Given the description of an element on the screen output the (x, y) to click on. 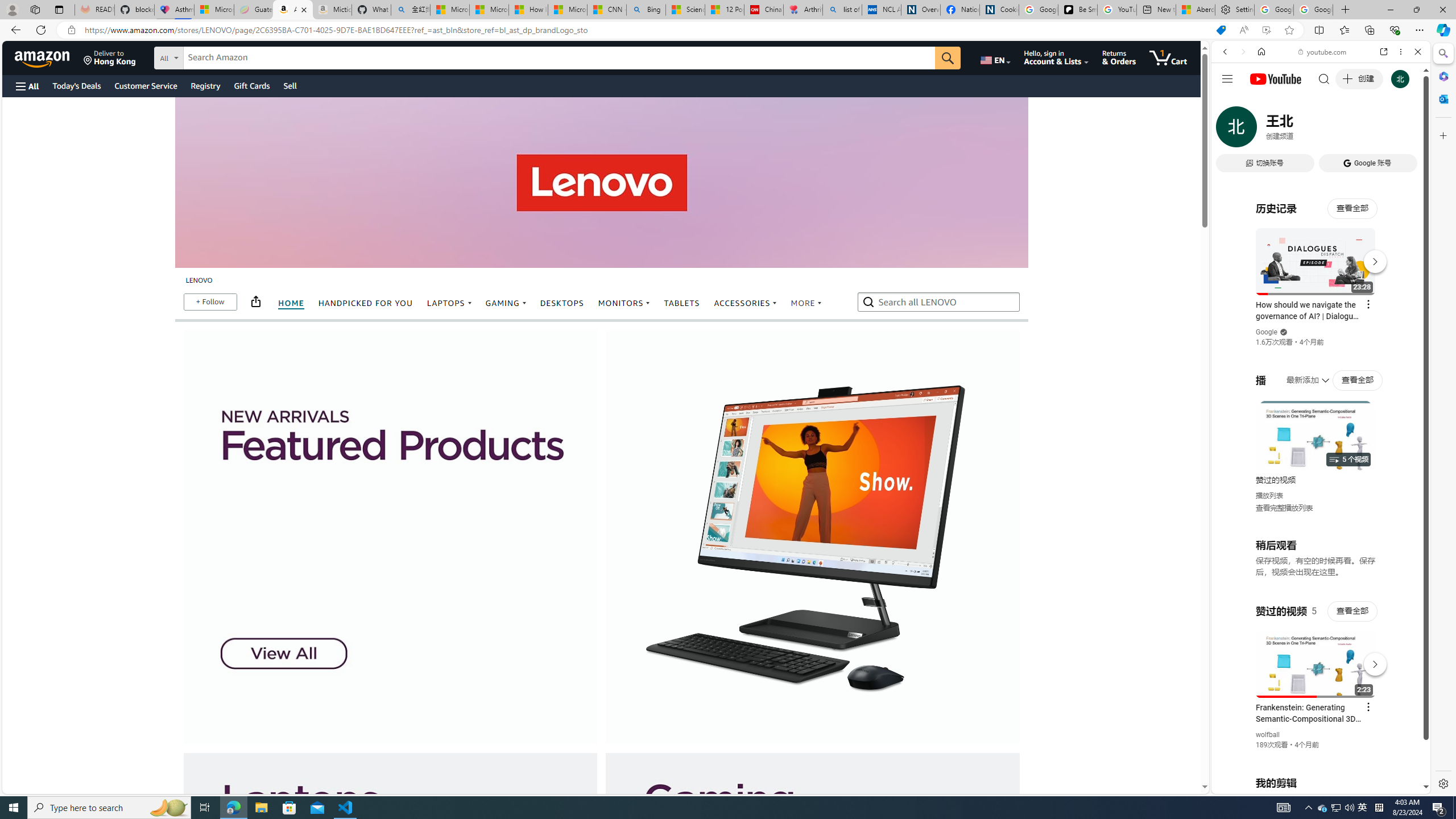
HOME (290, 302)
LENOVO (198, 280)
Go (947, 57)
Amazon (43, 57)
Search videos from youtube.com (1299, 373)
MONITORS (623, 303)
